Given the description of an element on the screen output the (x, y) to click on. 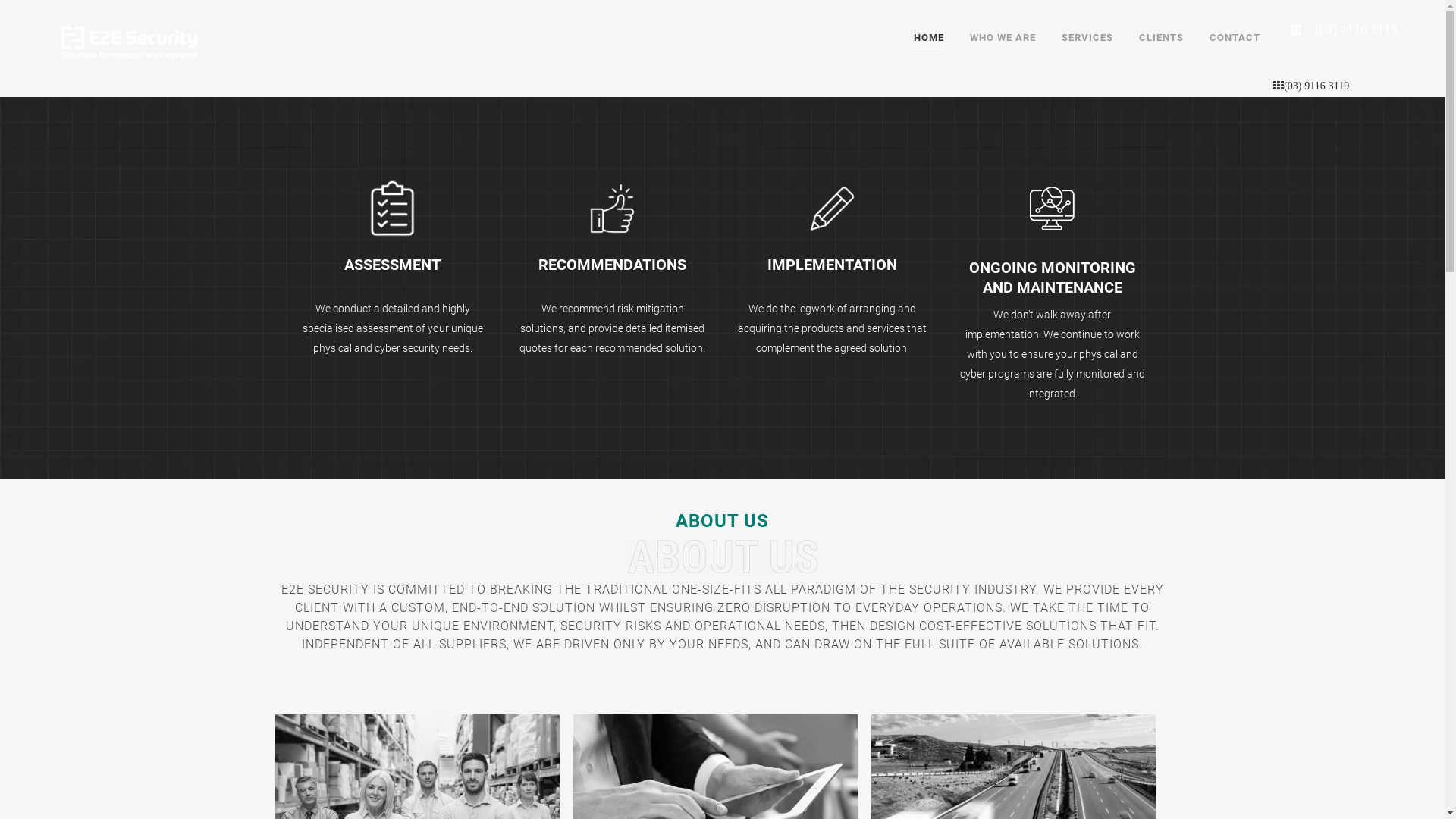
CONTACT Element type: text (1234, 37)
(03) 9116 3119 Element type: text (1341, 85)
(03) 9116 3119 Element type: text (1321, 85)
SERVICES Element type: text (1087, 37)
WHO WE ARE Element type: text (1002, 37)
(03) 9116 3119 Element type: text (1341, 29)
HOME Element type: text (928, 37)
CLIENTS Element type: text (1161, 37)
section-title-image-1 Element type: hover (722, 556)
